Given the description of an element on the screen output the (x, y) to click on. 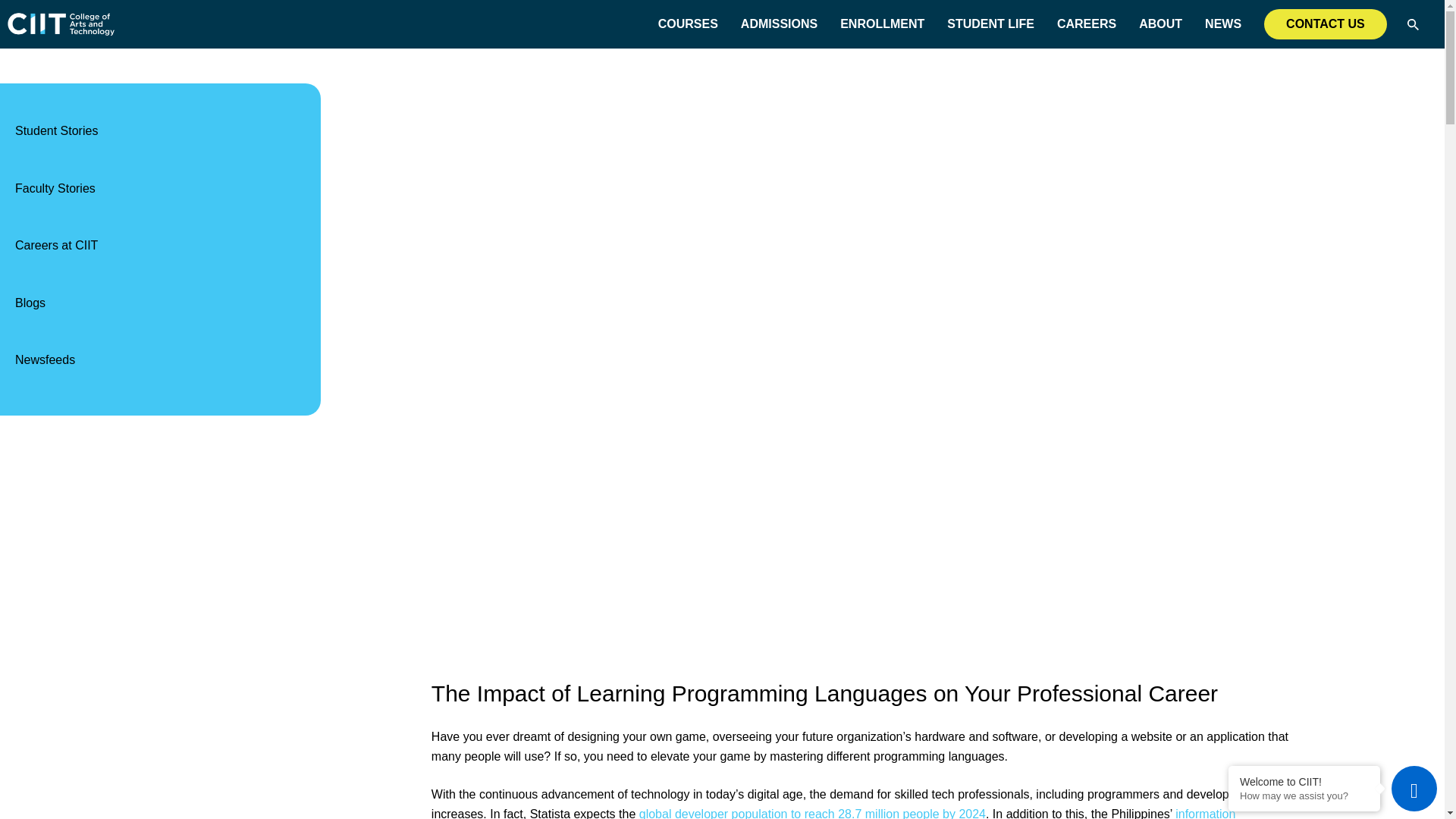
How may we assist you? (1304, 795)
ABOUT (1160, 24)
COURSES (687, 24)
CONTACT US (1325, 24)
ENROLLMENT (882, 24)
Welcome to CIIT! (1304, 781)
NEWS (1223, 24)
CAREERS (1086, 24)
STUDENT LIFE (990, 24)
ADMISSIONS (778, 24)
